Given the description of an element on the screen output the (x, y) to click on. 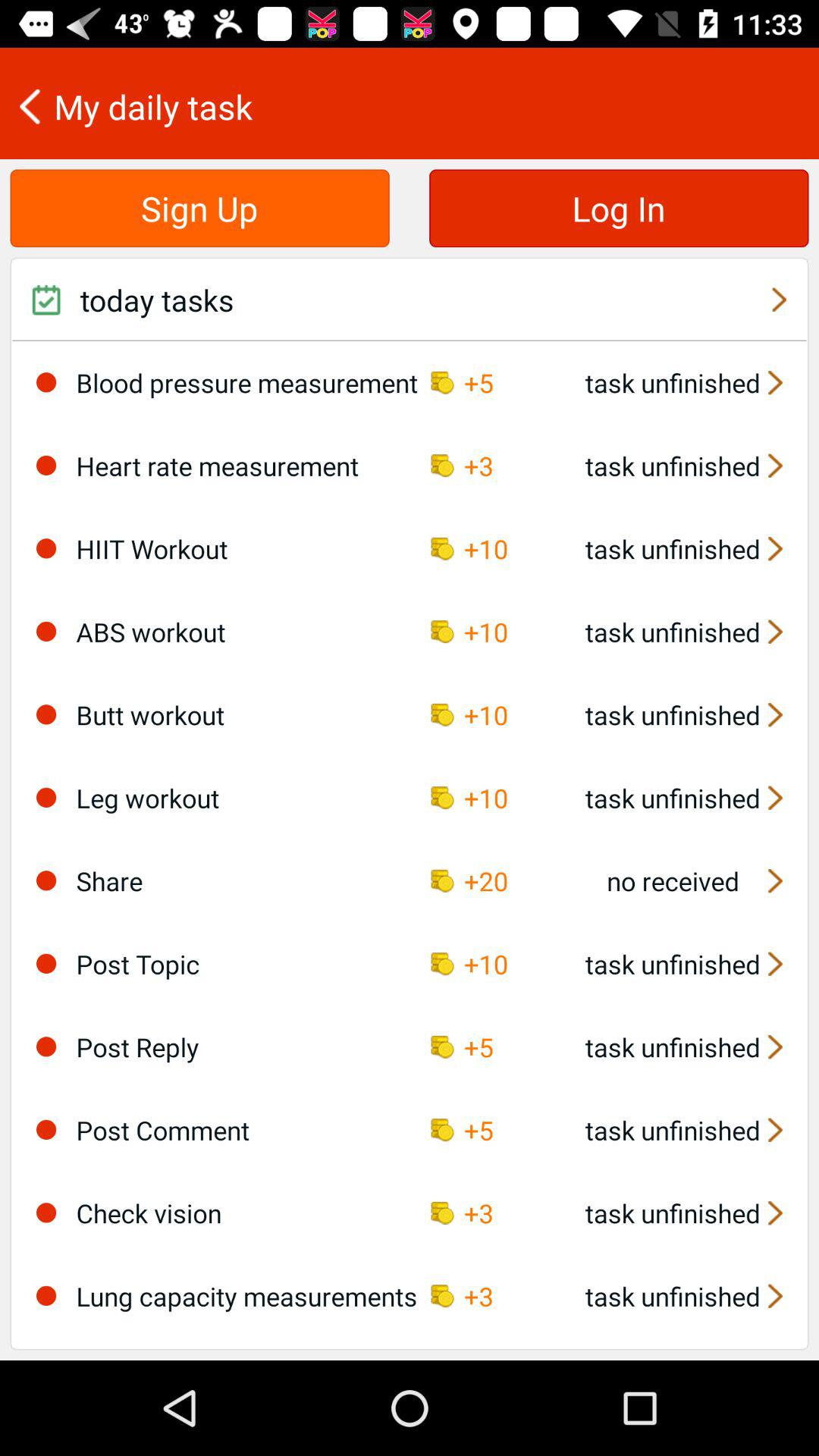
click to select task (46, 880)
